Given the description of an element on the screen output the (x, y) to click on. 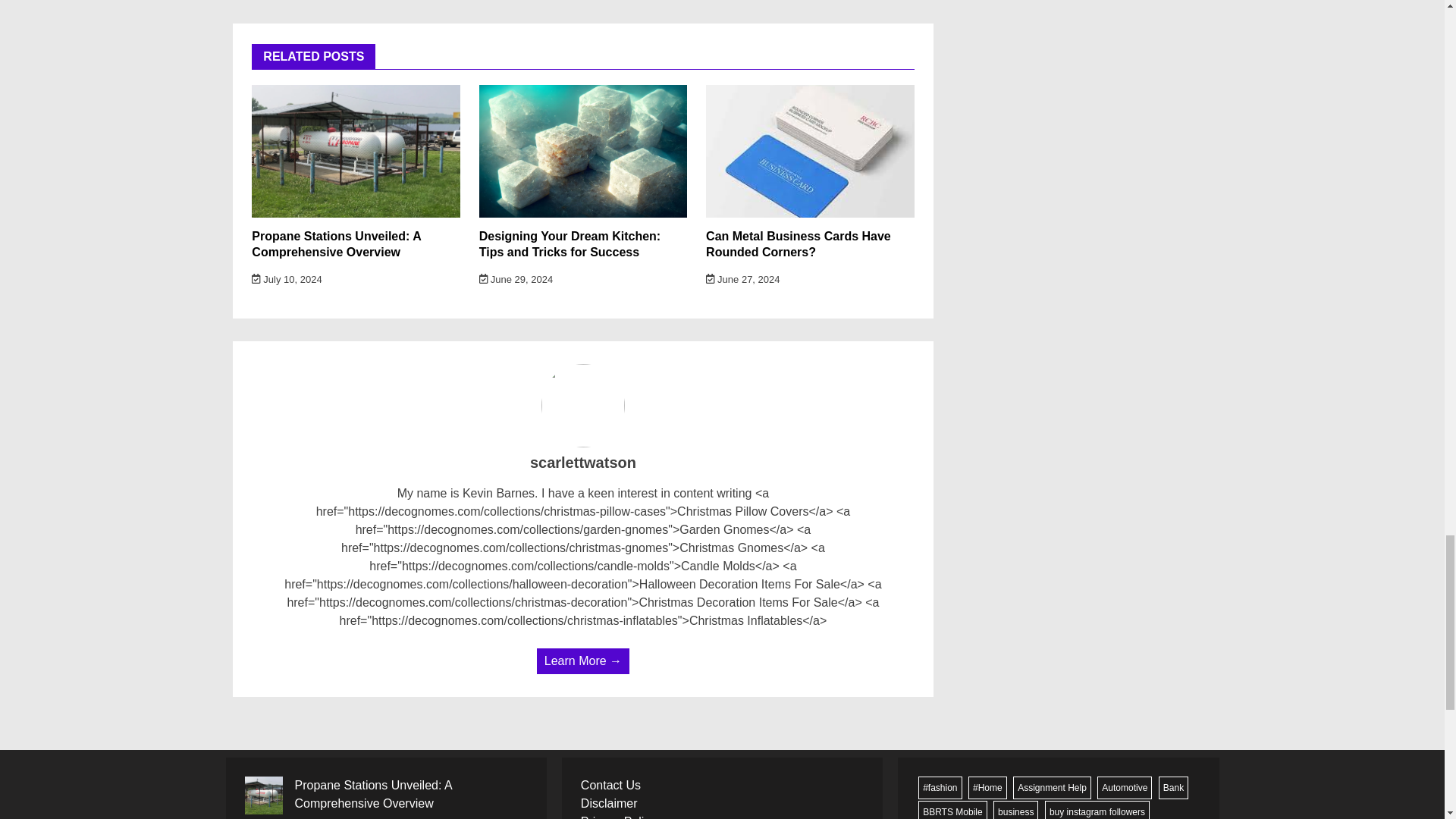
June 29, 2024 (516, 279)
July 10, 2024 (286, 279)
Can Metal Business Cards Have Rounded Corners? (798, 244)
Propane Stations Unveiled: A Comprehensive Overview (335, 244)
Designing Your Dream Kitchen: Tips and Tricks for Success (570, 244)
June 27, 2024 (742, 279)
